Given the description of an element on the screen output the (x, y) to click on. 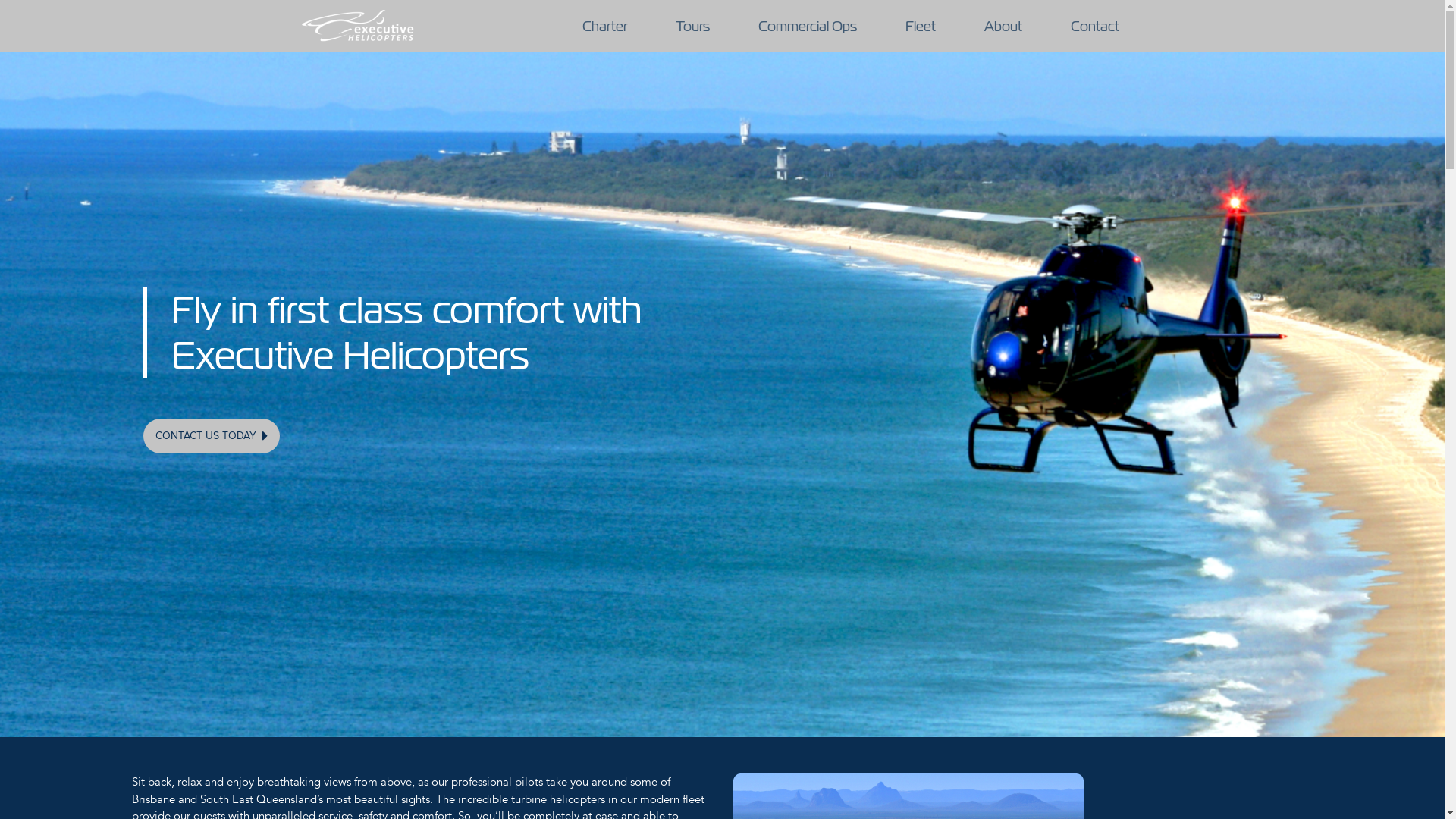
Fleet Element type: text (920, 25)
Charter Element type: text (604, 25)
About Element type: text (1003, 25)
CONTACT US TODAY Element type: text (211, 435)
Tours Element type: text (691, 25)
Contact Element type: text (1094, 25)
Commercial Ops Element type: text (807, 25)
